Given the description of an element on the screen output the (x, y) to click on. 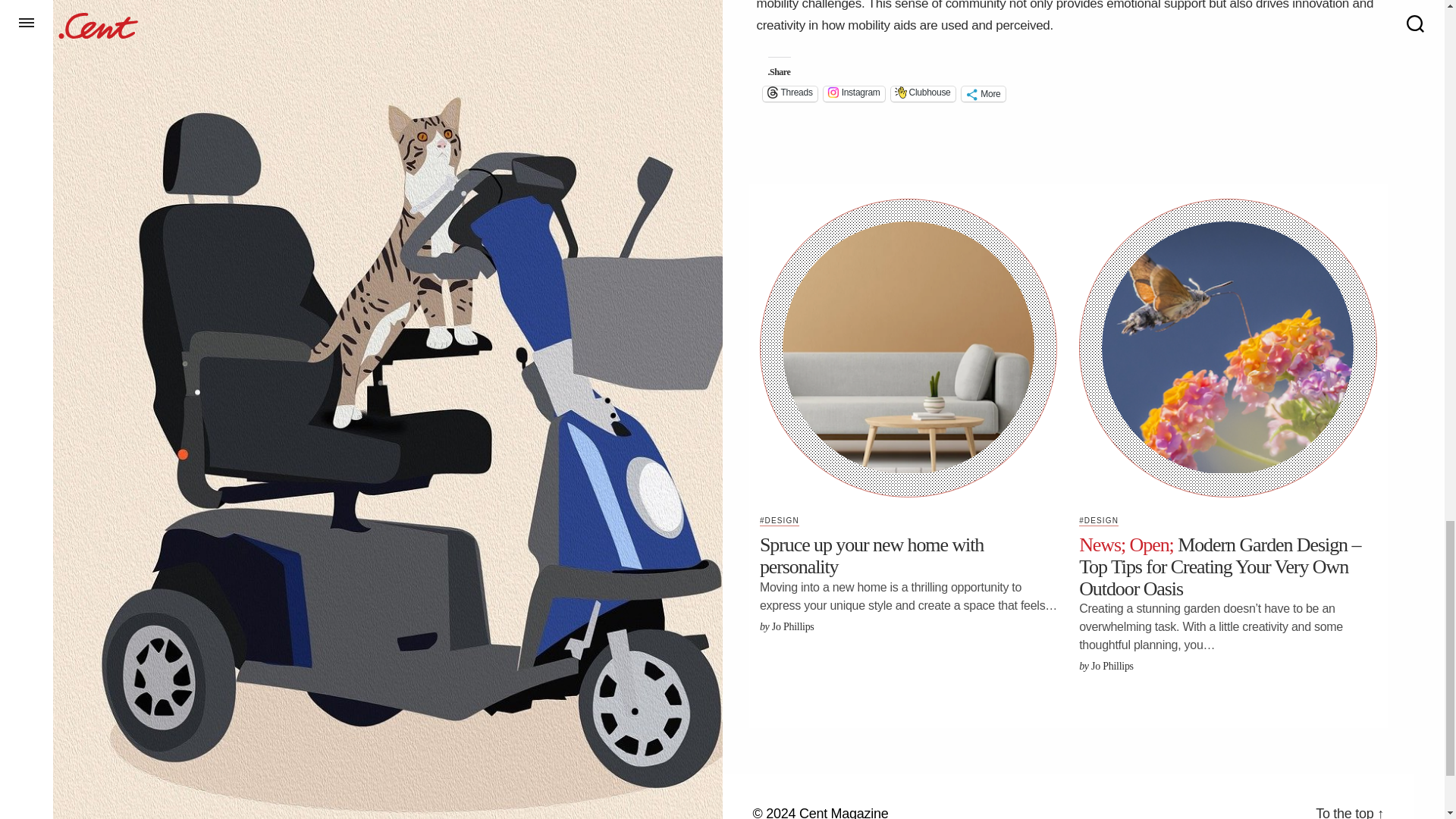
Author Profile (1112, 665)
Click to share on Instagram (854, 93)
Click to share on Threads (789, 93)
Author Profile (792, 626)
Click to share on Clubhouse (923, 93)
